Given the description of an element on the screen output the (x, y) to click on. 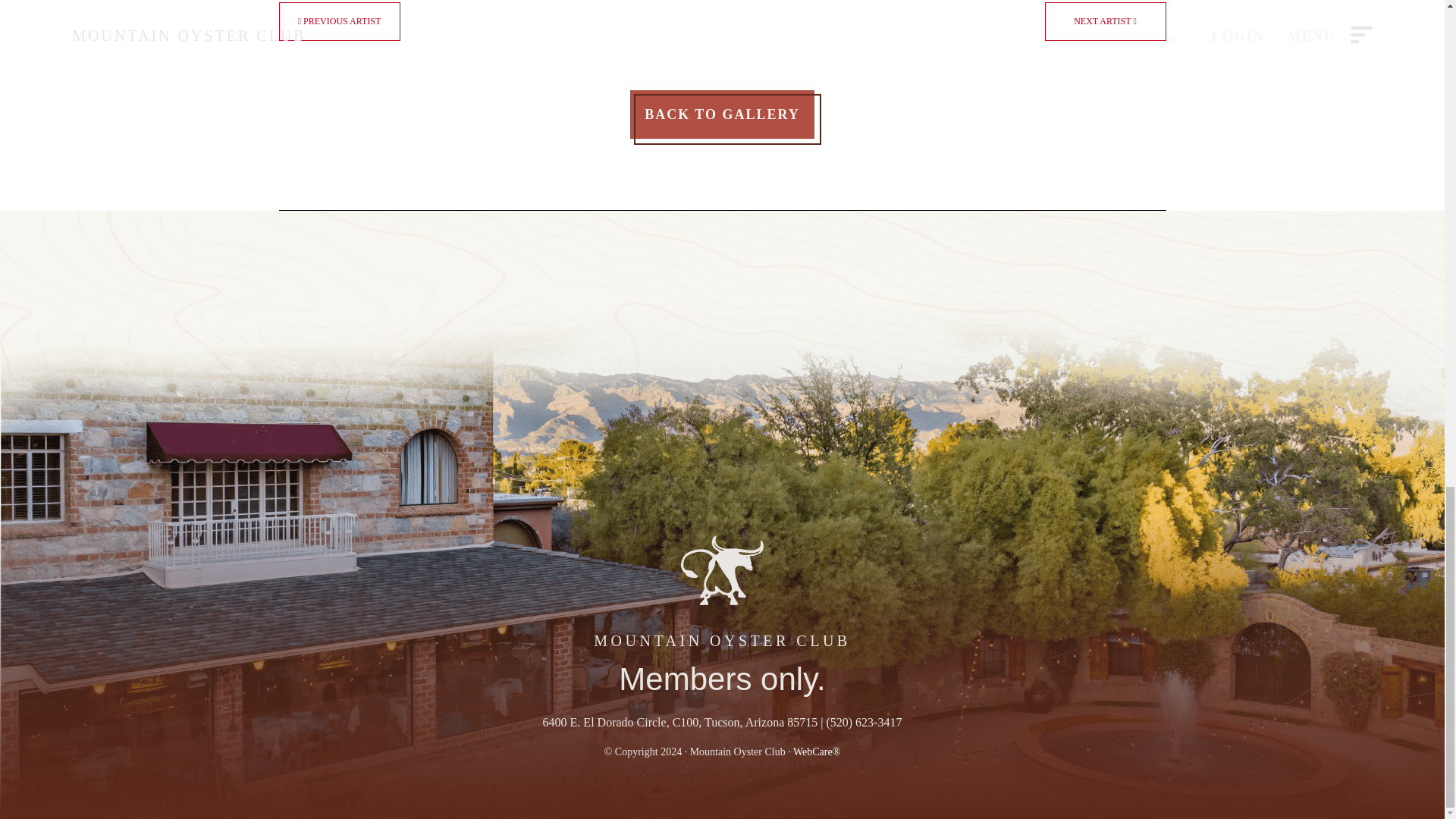
NEXT ARTIST (1105, 21)
BACK TO GALLERY (721, 114)
PREVIOUS ARTIST (339, 21)
